Given the description of an element on the screen output the (x, y) to click on. 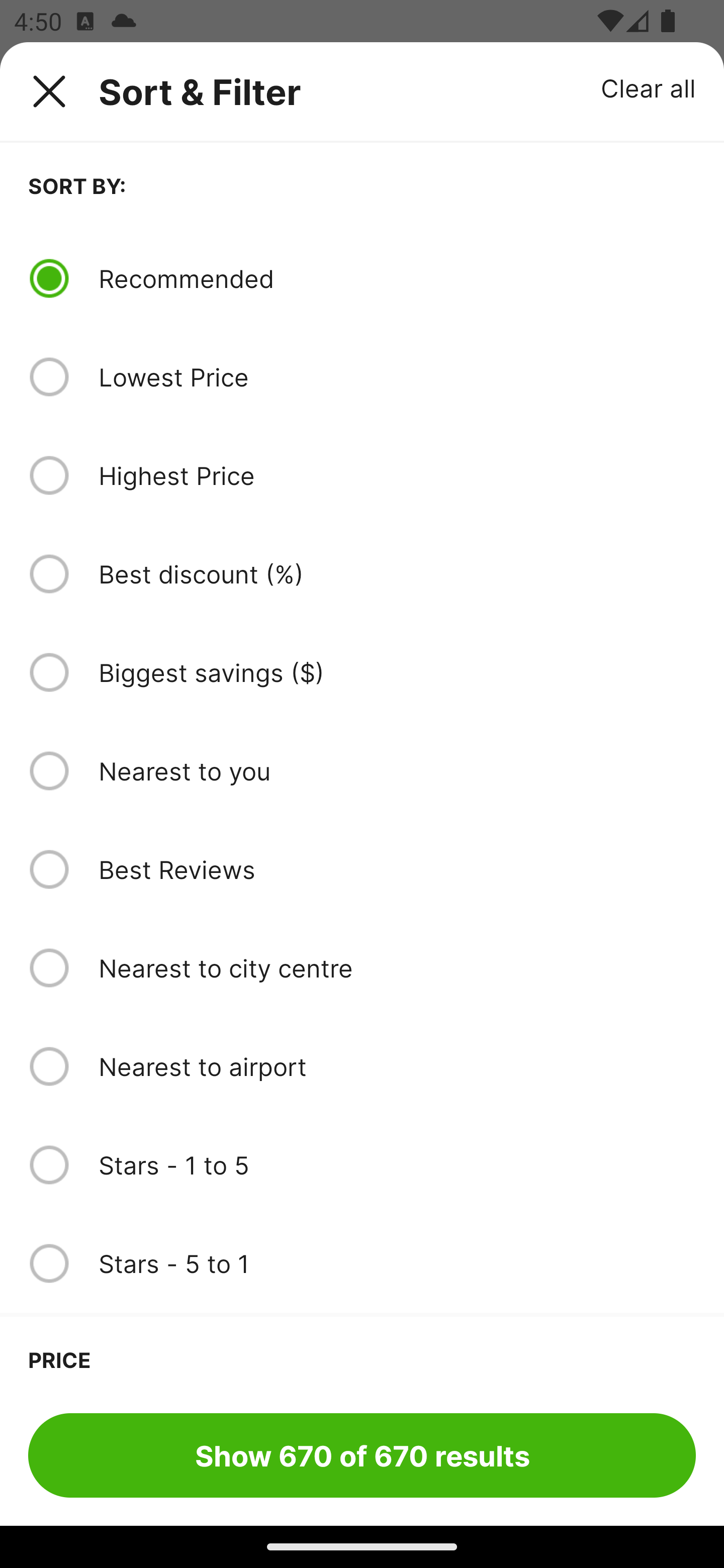
Clear all (648, 87)
Recommended  (396, 278)
Lowest Price (396, 377)
Highest Price (396, 474)
Best discount (%) (396, 573)
Biggest savings ($) (396, 672)
Nearest to you (396, 770)
Best Reviews (396, 869)
Nearest to city centre (396, 968)
Nearest to airport (396, 1065)
Stars - 1 to 5 (396, 1164)
Stars - 5 to 1 (396, 1263)
Show 670 of 670 results (361, 1454)
